Given the description of an element on the screen output the (x, y) to click on. 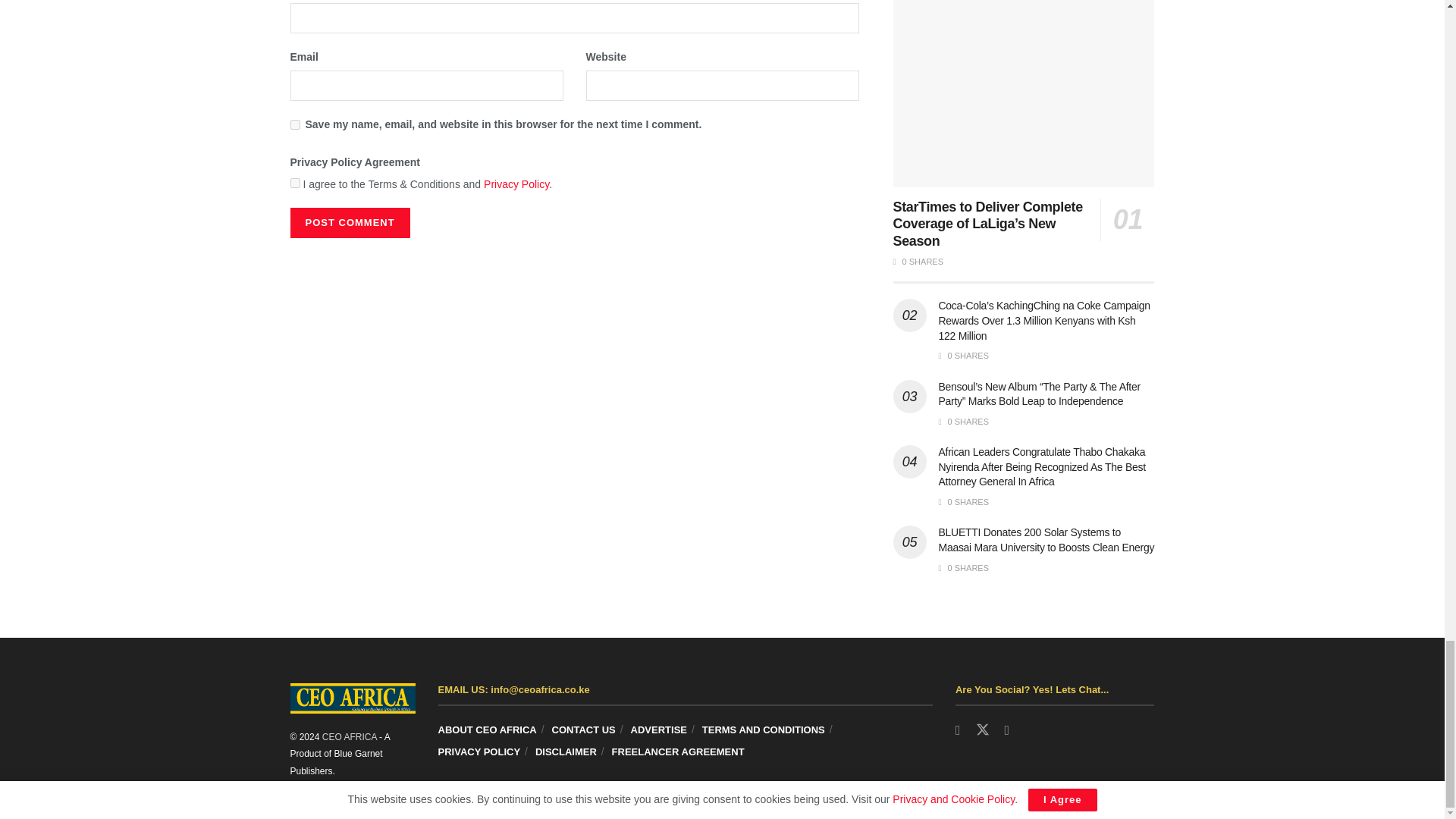
on (294, 183)
Enhansing Business Growth in Africa (349, 737)
yes (294, 124)
Post Comment (349, 223)
